Given the description of an element on the screen output the (x, y) to click on. 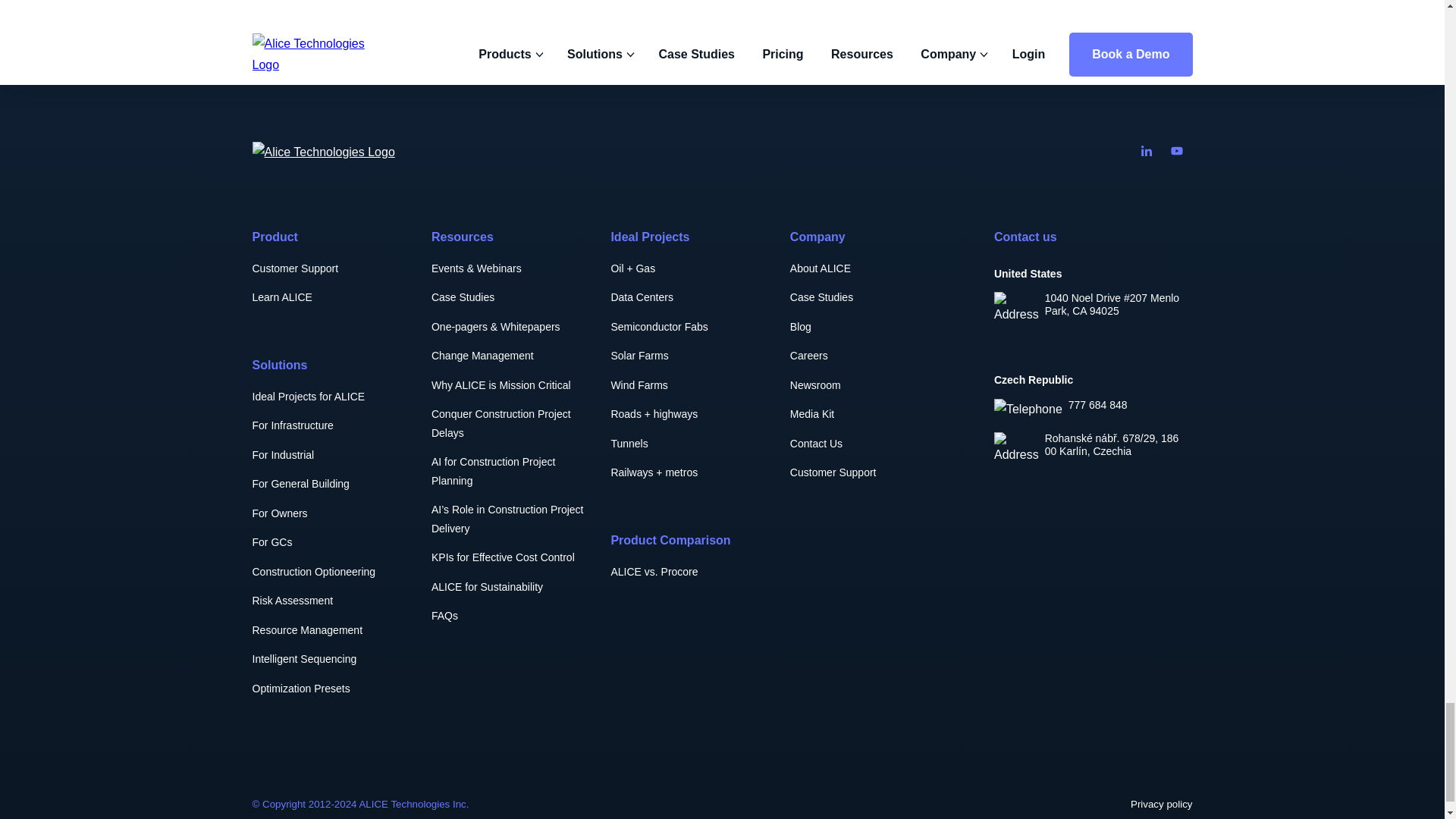
Alice Technologies Logo (322, 151)
